Given the description of an element on the screen output the (x, y) to click on. 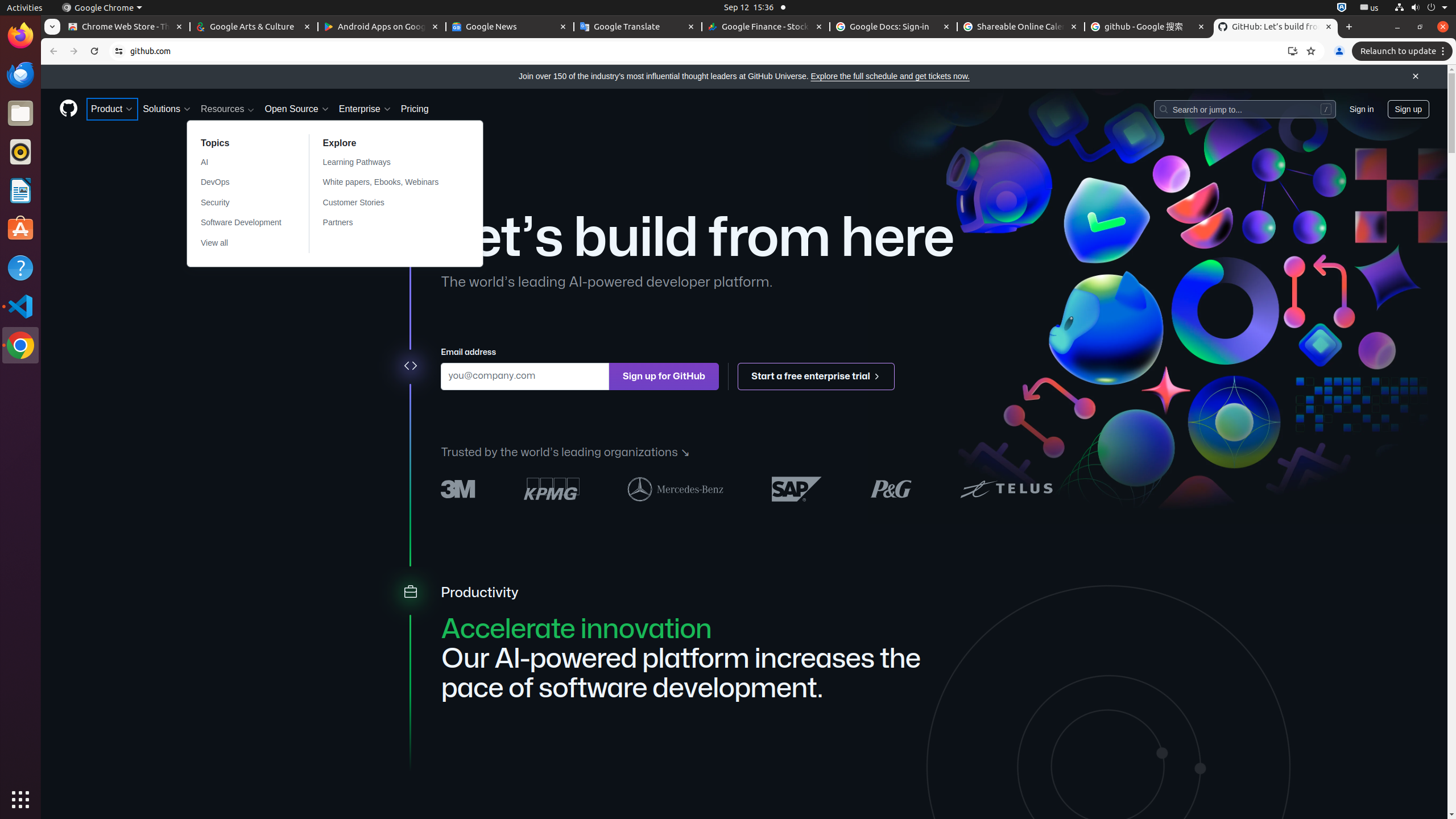
Firefox Web Browser Element type: push-button (20, 35)
Customer Stories Element type: link (387, 202)
Show Applications Element type: toggle-button (20, 799)
Android Apps on Google Play - Memory usage - 52.4 MB Element type: page-tab (381, 26)
Search or jump to… Element type: push-button (1244, 108)
